Given the description of an element on the screen output the (x, y) to click on. 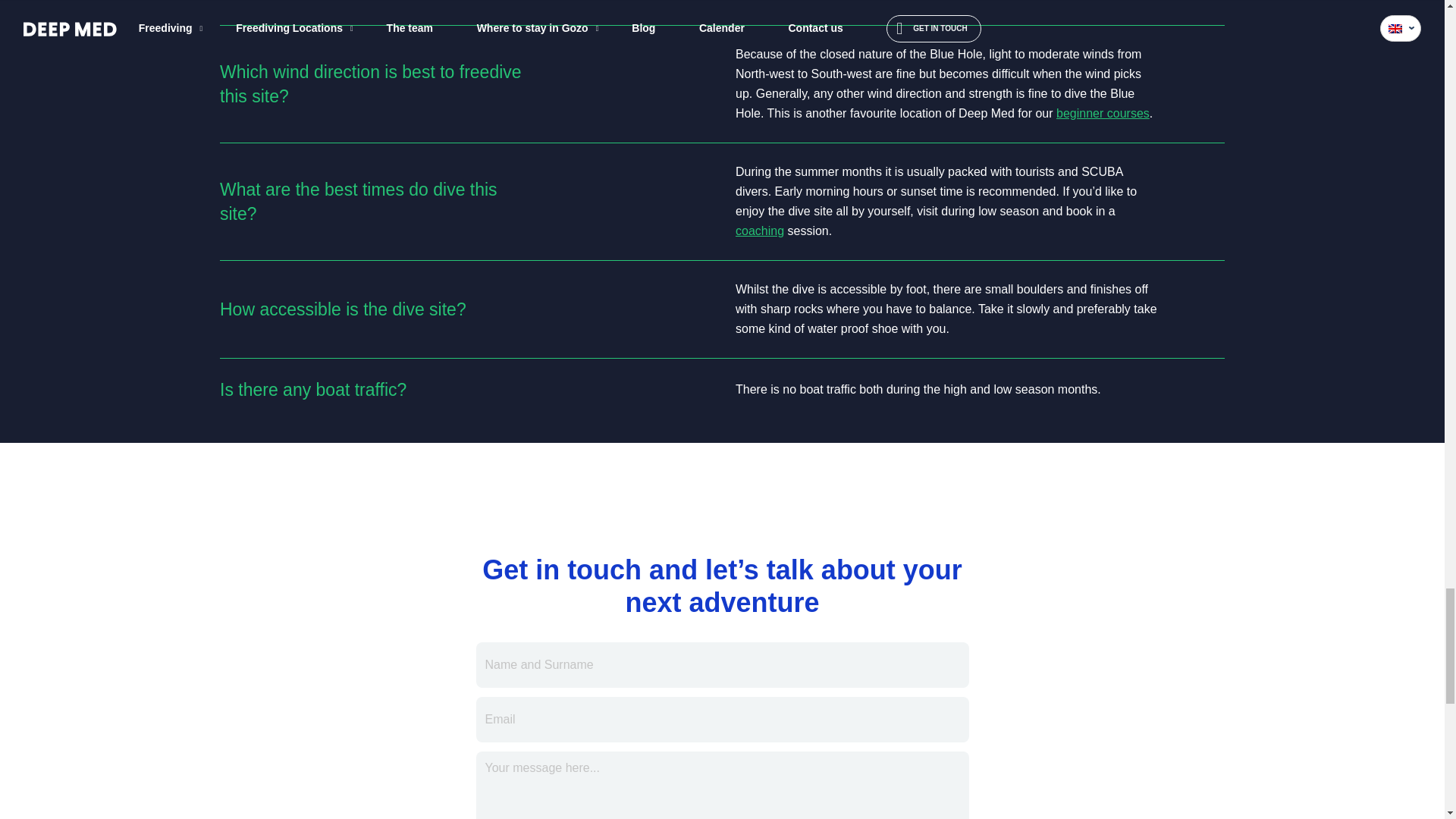
coaching (759, 230)
beginner courses (1103, 113)
